Given the description of an element on the screen output the (x, y) to click on. 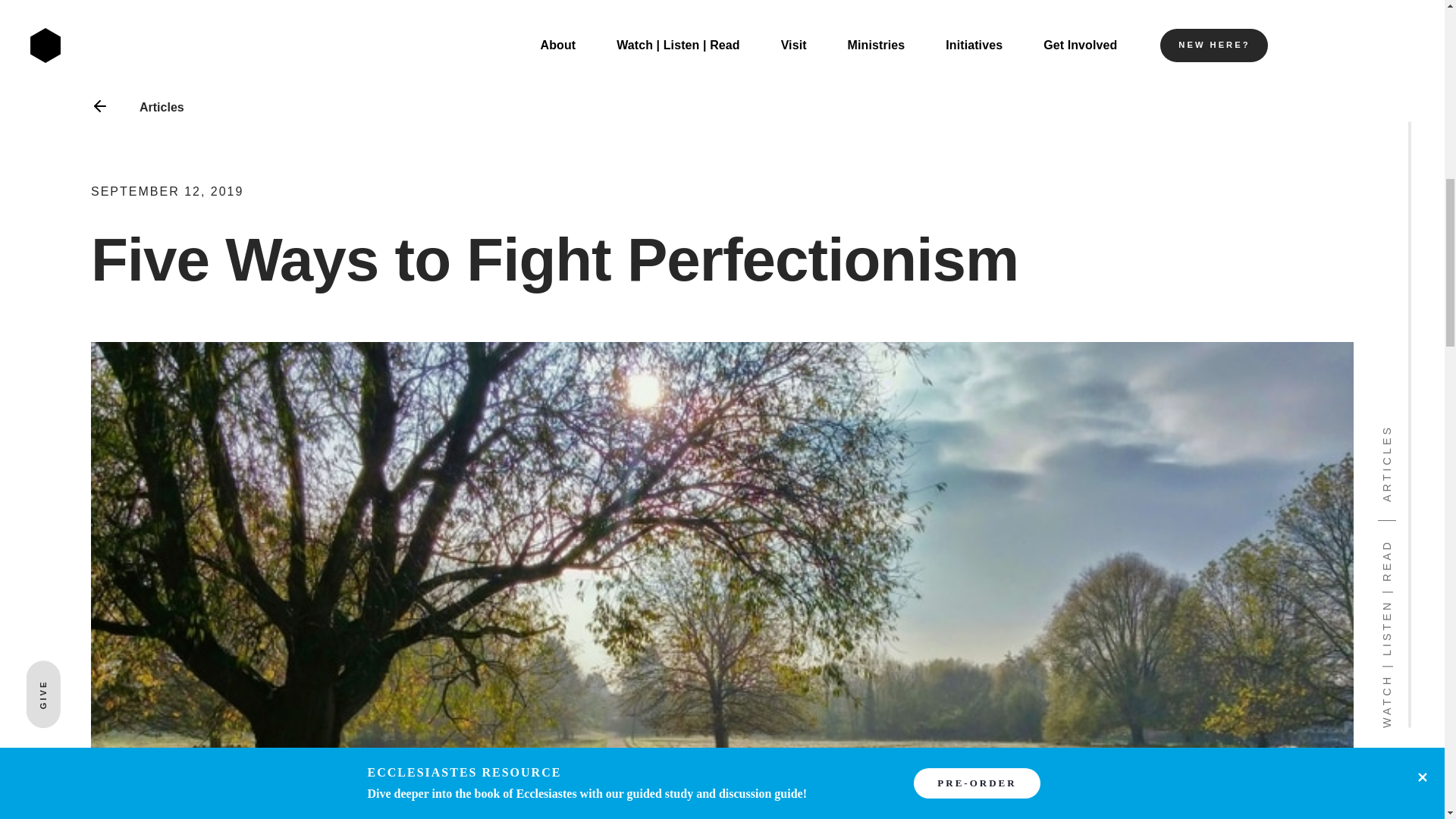
Share on LinkedIn (983, 586)
Email (1023, 586)
Share on Facebook (947, 586)
